Given the description of an element on the screen output the (x, y) to click on. 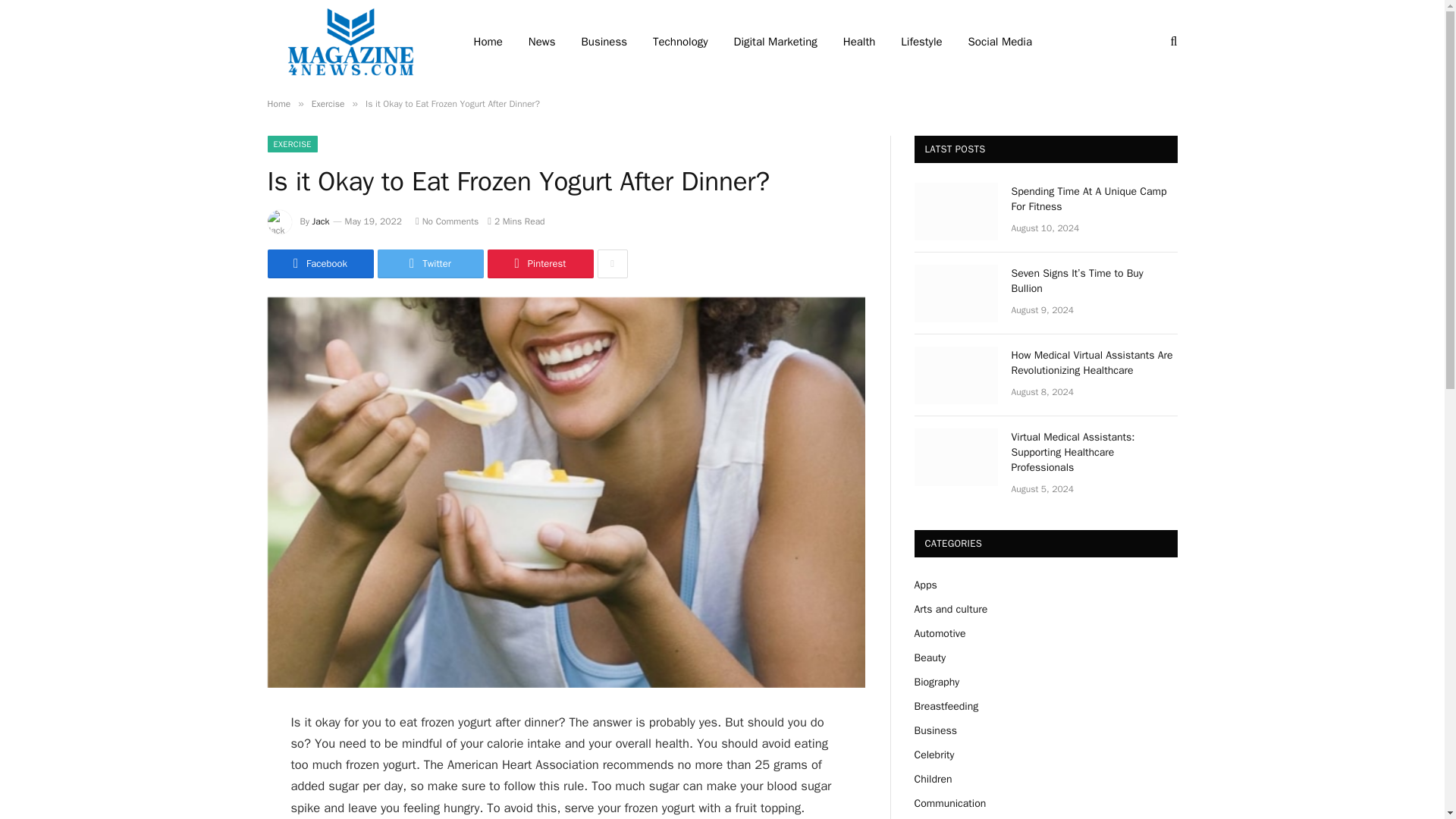
Technology (680, 41)
No Comments (446, 221)
Digital Marketing (774, 41)
Jack (321, 221)
Exercise (328, 103)
Pinterest (539, 263)
Facebook (319, 263)
Home (277, 103)
Magazine 4 News (349, 41)
EXERCISE (291, 143)
